Given the description of an element on the screen output the (x, y) to click on. 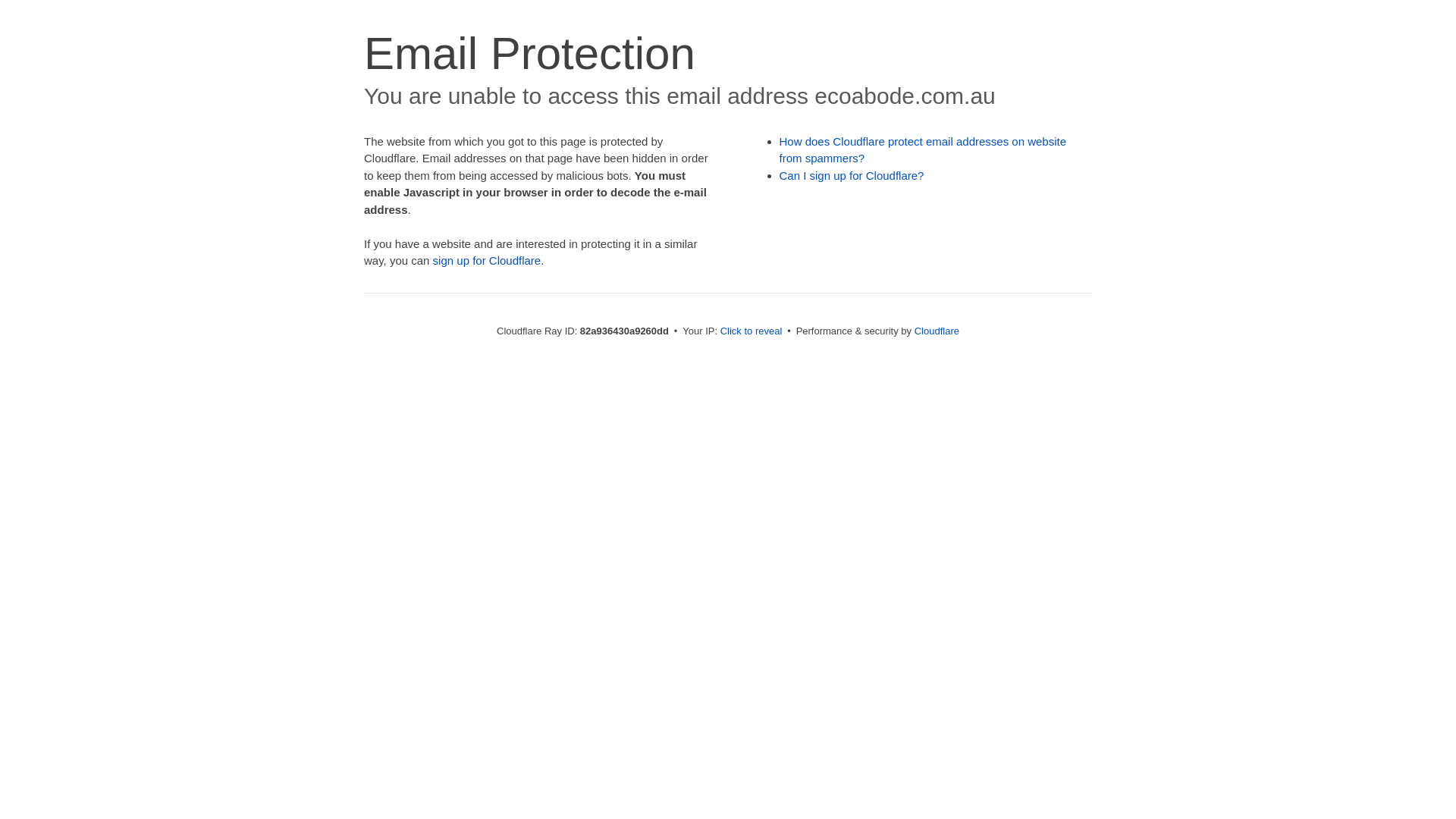
Can I sign up for Cloudflare? Element type: text (851, 175)
Cloudflare Element type: text (936, 330)
Click to reveal Element type: text (751, 330)
sign up for Cloudflare Element type: text (487, 260)
